Given the description of an element on the screen output the (x, y) to click on. 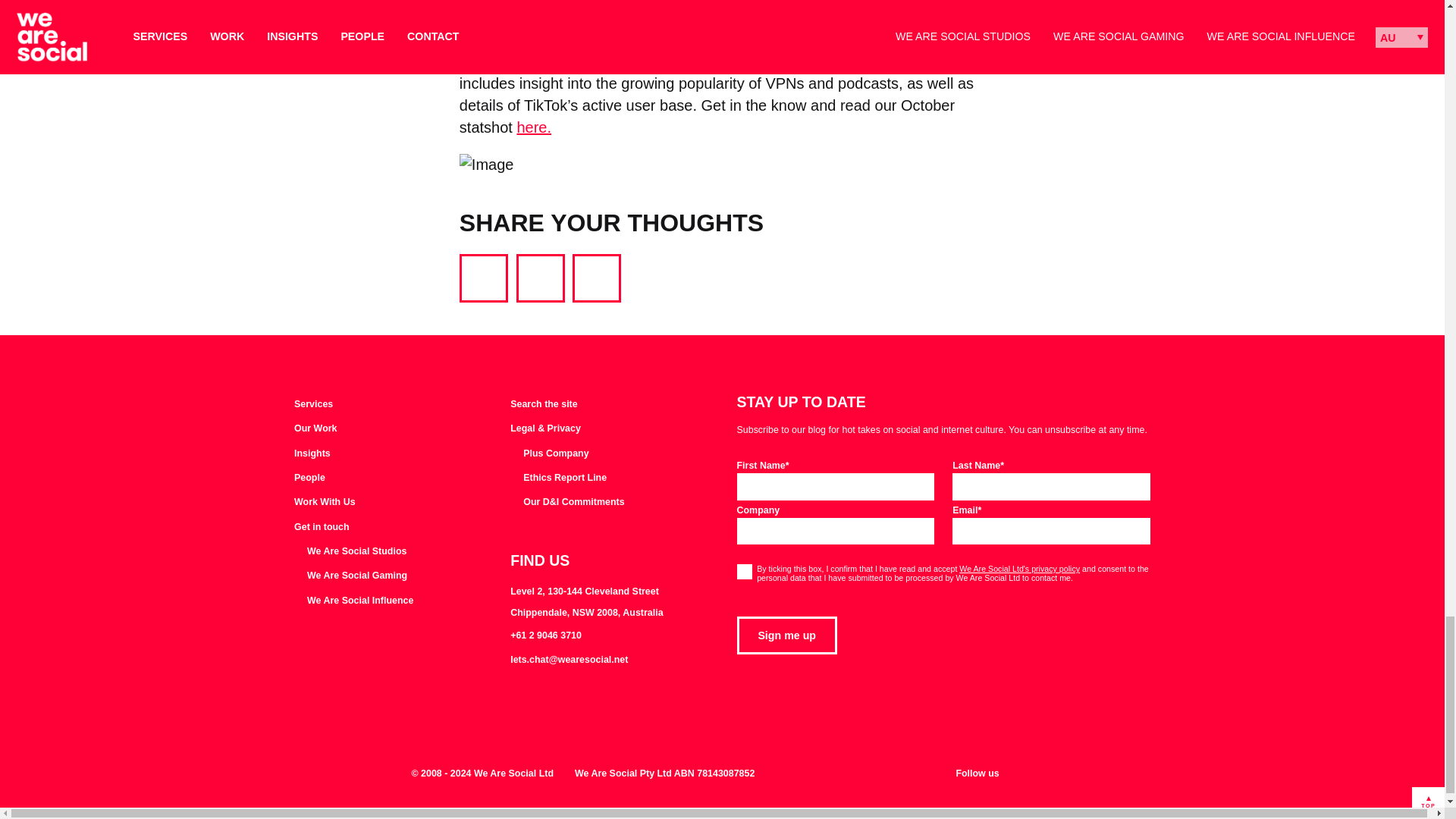
Our Work (315, 428)
Share via LinkedIn (596, 277)
Work (315, 428)
We Are Social Gaming (350, 575)
here. (533, 126)
Plus Company (549, 453)
About (309, 478)
Search the site (543, 404)
Get in Touch (321, 527)
